Given the description of an element on the screen output the (x, y) to click on. 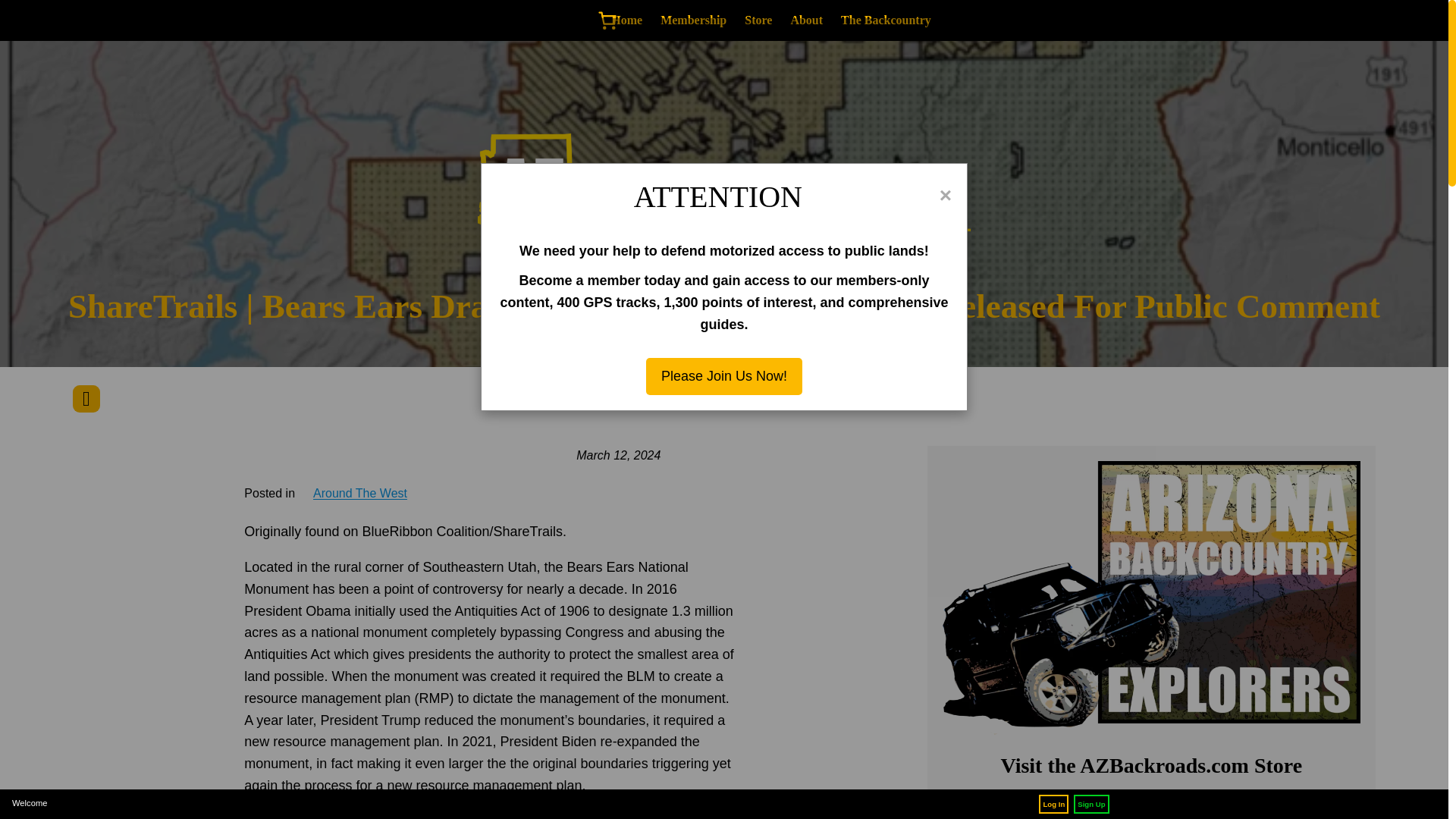
The Backcountry (886, 20)
Home (626, 20)
Around The West (360, 492)
The Backcountry (886, 20)
AZBackroads.com Store (1151, 807)
About (806, 20)
Membership (693, 20)
Store (757, 20)
Log In (1053, 804)
Please Join Us Now! (724, 375)
Sign Up (1091, 804)
